Given the description of an element on the screen output the (x, y) to click on. 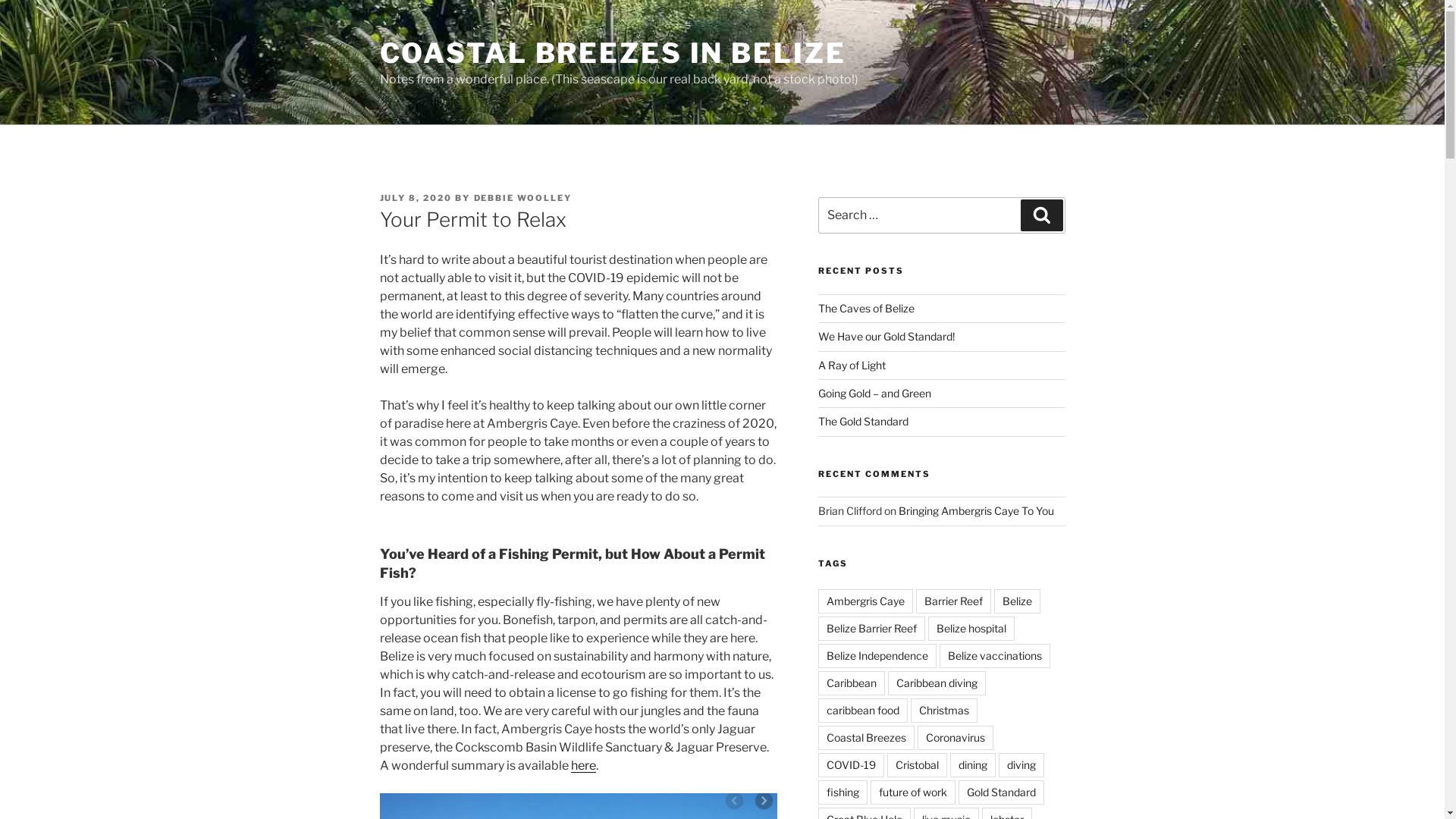
Caribbean diving Element type: text (936, 683)
Belize Barrier Reef Element type: text (871, 628)
The Gold Standard Element type: text (863, 420)
Belize vaccinations Element type: text (994, 655)
The Caves of Belize Element type: text (866, 307)
Coastal Breezes Element type: text (866, 737)
Barrier Reef Element type: text (953, 601)
fishing Element type: text (842, 792)
diving Element type: text (1021, 765)
Skip to content Element type: text (0, 0)
here Element type: text (582, 765)
Belize Element type: text (1017, 601)
A Ray of Light Element type: text (851, 364)
COASTAL BREEZES IN BELIZE Element type: text (612, 52)
JULY 8, 2020 Element type: text (415, 197)
Gold Standard Element type: text (1001, 792)
dining Element type: text (972, 765)
Cristobal Element type: text (917, 765)
future of work Element type: text (912, 792)
Coronavirus Element type: text (955, 737)
Caribbean Element type: text (851, 683)
Christmas Element type: text (943, 710)
We Have our Gold Standard! Element type: text (886, 335)
DEBBIE WOOLLEY Element type: text (522, 197)
COVID-19 Element type: text (851, 765)
Belize hospital Element type: text (971, 628)
Bringing Ambergris Caye To You Element type: text (976, 510)
Search Element type: text (1041, 215)
Belize Independence Element type: text (877, 655)
Ambergris Caye Element type: text (865, 601)
caribbean food Element type: text (862, 710)
